Given the description of an element on the screen output the (x, y) to click on. 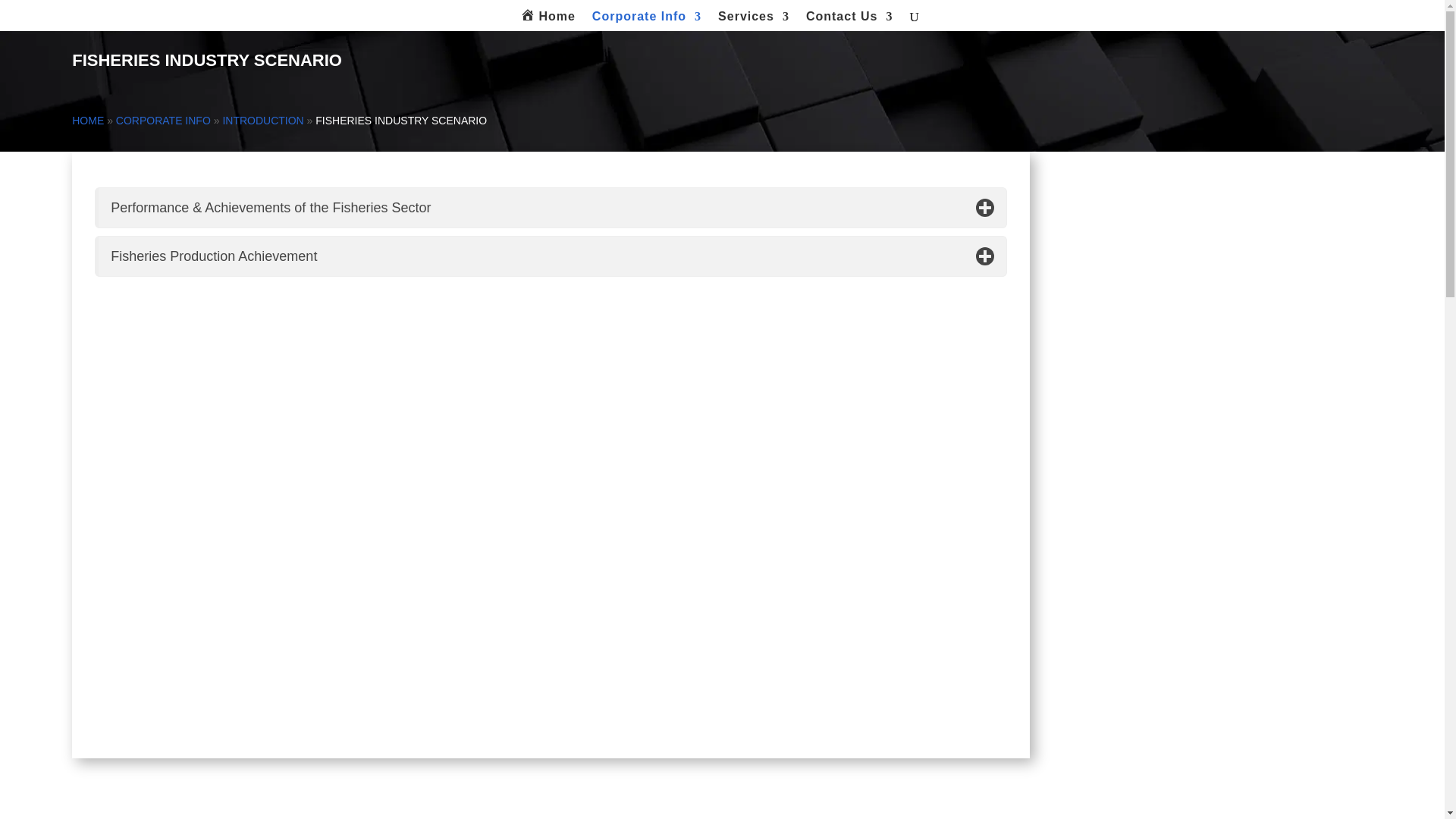
Services (753, 20)
Corporate Info (646, 20)
Home (547, 21)
